Given the description of an element on the screen output the (x, y) to click on. 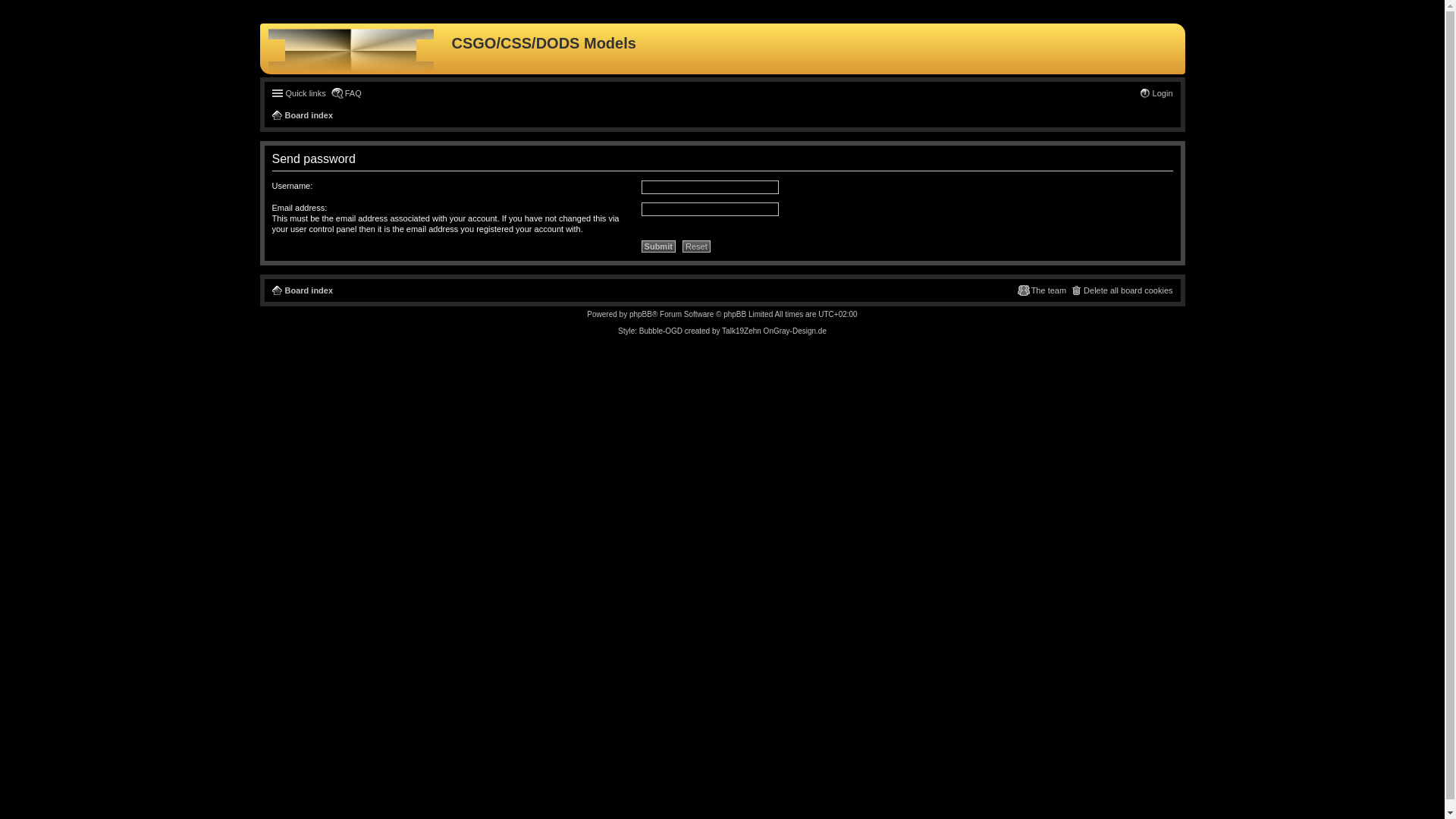
Board index (301, 115)
phpBB (640, 314)
Board index (301, 290)
FAQ (346, 93)
Delete all board cookies (1121, 290)
Login (1155, 93)
Board index (301, 290)
Frequently Asked Questions (346, 93)
Reset (696, 246)
Submit (658, 246)
Board index (357, 48)
Login (1155, 93)
The team (1041, 290)
Submit (658, 246)
OnGray-Design.de (794, 330)
